Given the description of an element on the screen output the (x, y) to click on. 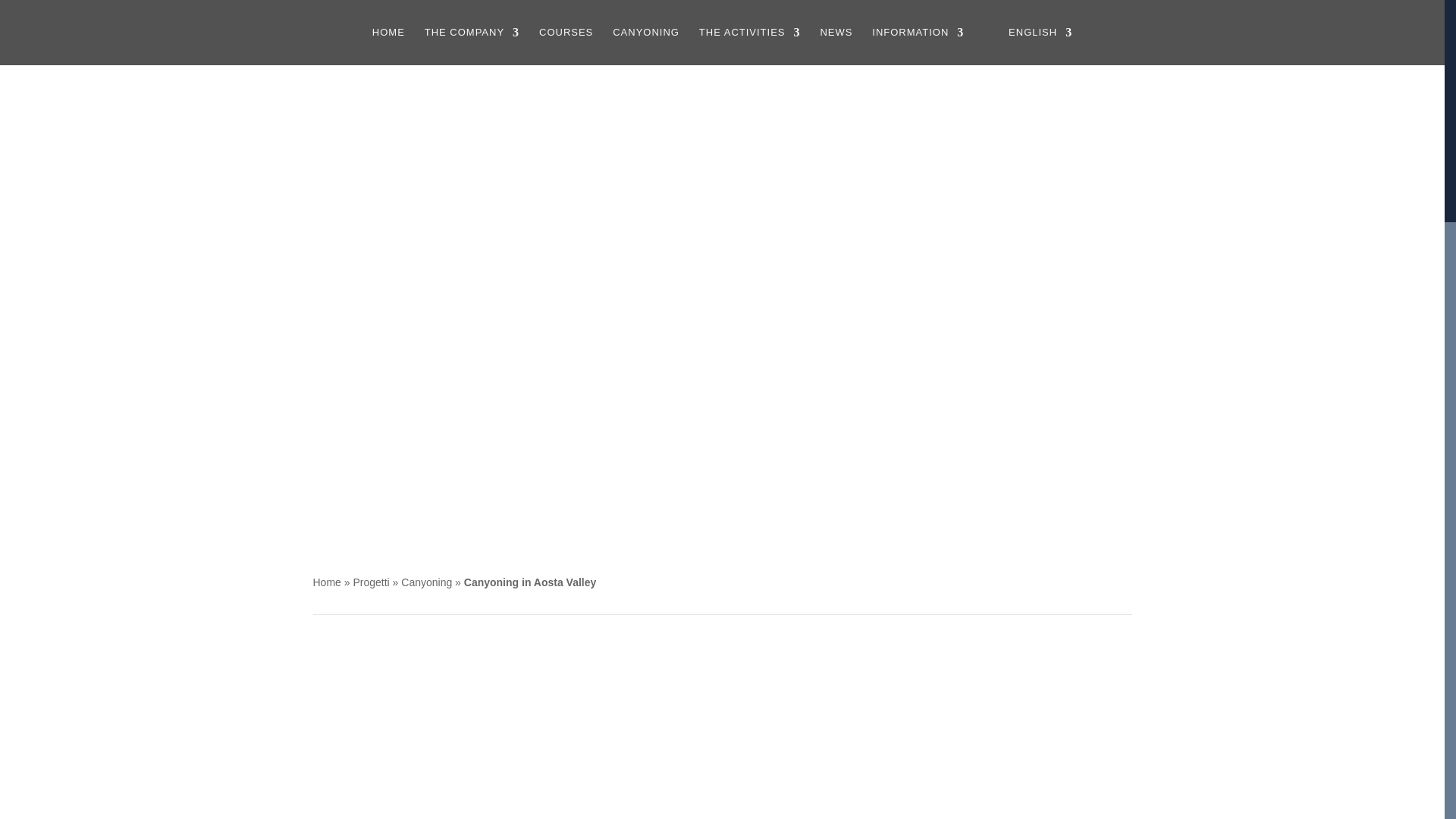
Canyoning (426, 582)
THE ACTIVITIES (749, 45)
INFORMATION (917, 45)
Progetti (370, 582)
THE COMPANY (472, 45)
ENGLISH (1027, 46)
CANYONING (645, 45)
COURSES (565, 45)
English (1027, 46)
Home (326, 582)
